Given the description of an element on the screen output the (x, y) to click on. 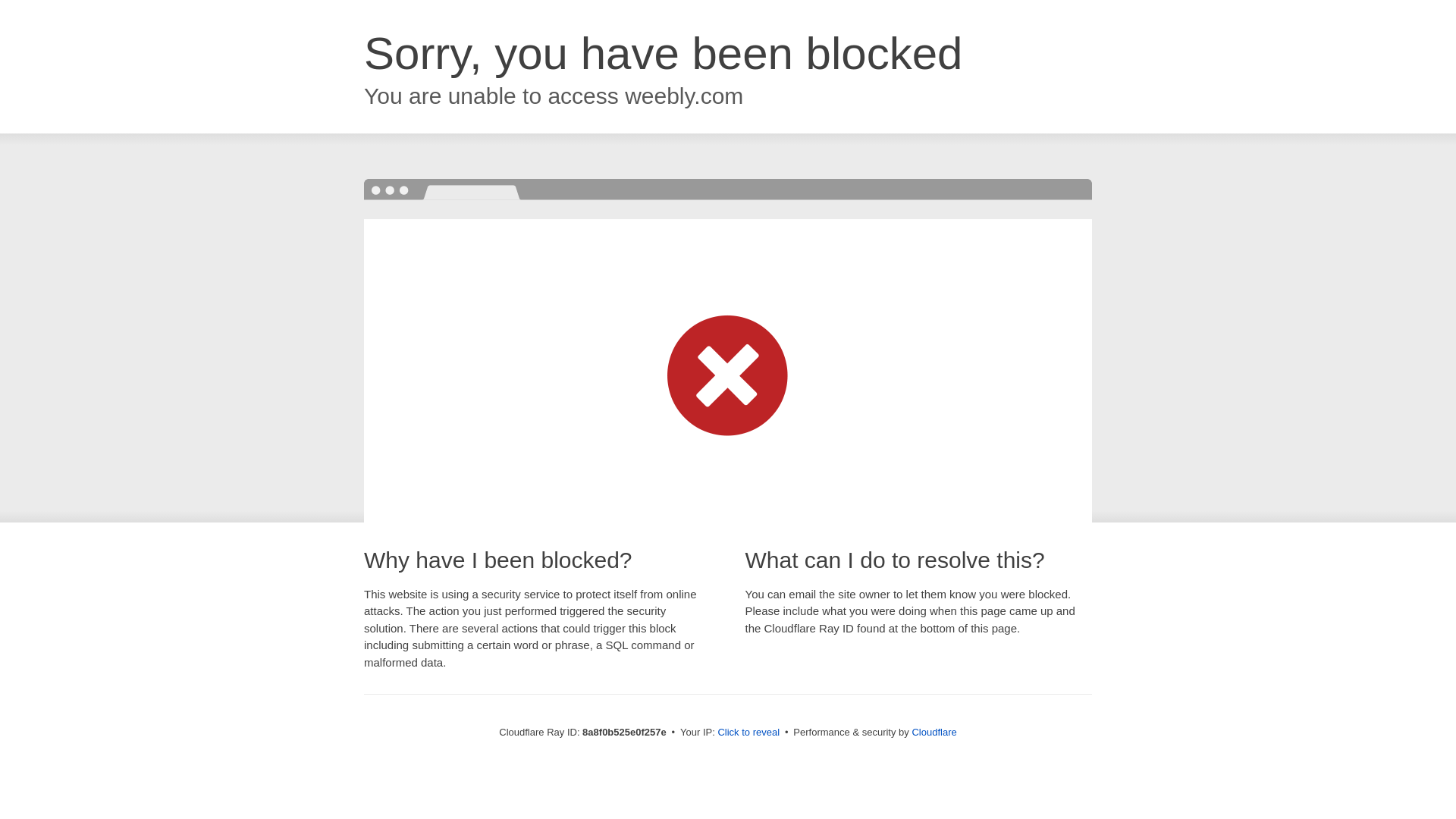
Click to reveal (747, 732)
Cloudflare (933, 731)
